Given the description of an element on the screen output the (x, y) to click on. 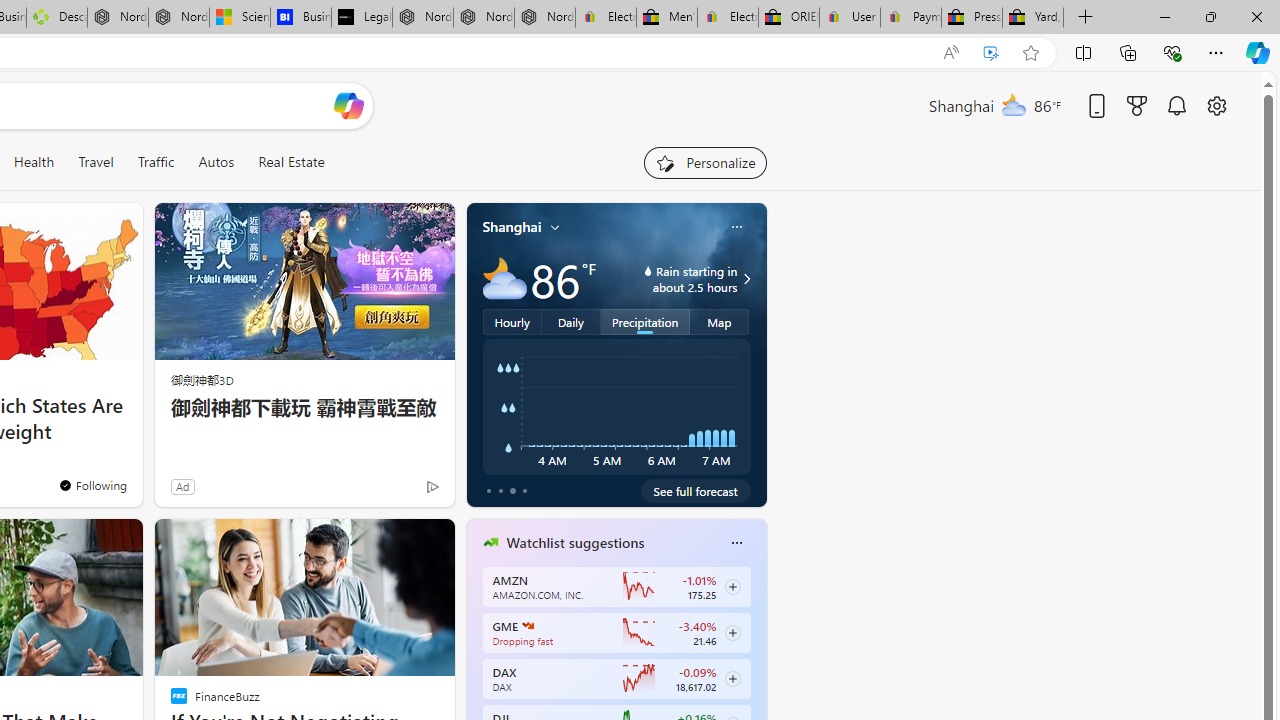
You're following Newsweek (92, 485)
Mostly cloudy (504, 278)
Precipitation (645, 321)
